Given the description of an element on the screen output the (x, y) to click on. 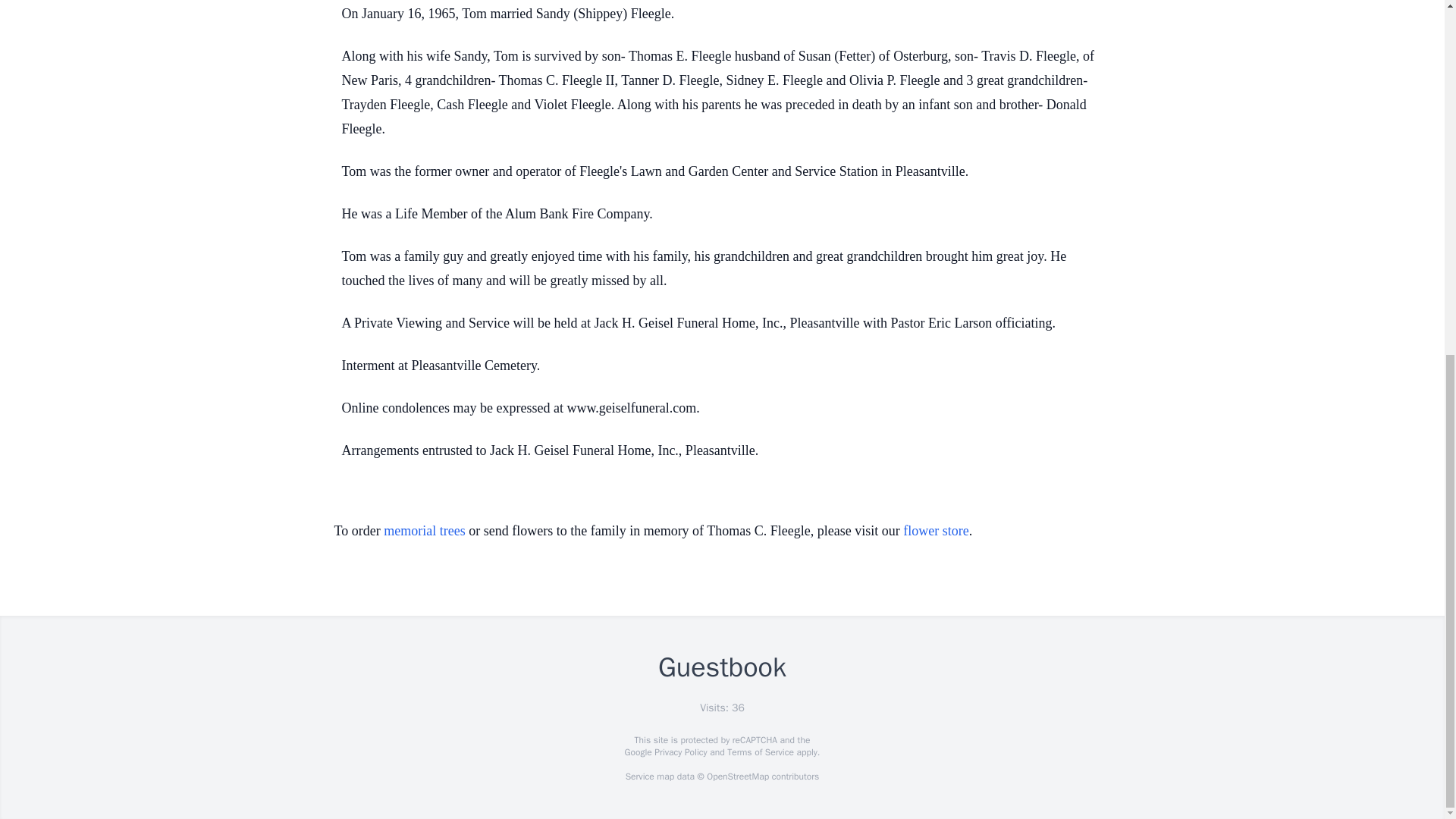
memorial trees (424, 530)
flower store (935, 530)
OpenStreetMap (737, 776)
Privacy Policy (679, 752)
Terms of Service (759, 752)
